Given the description of an element on the screen output the (x, y) to click on. 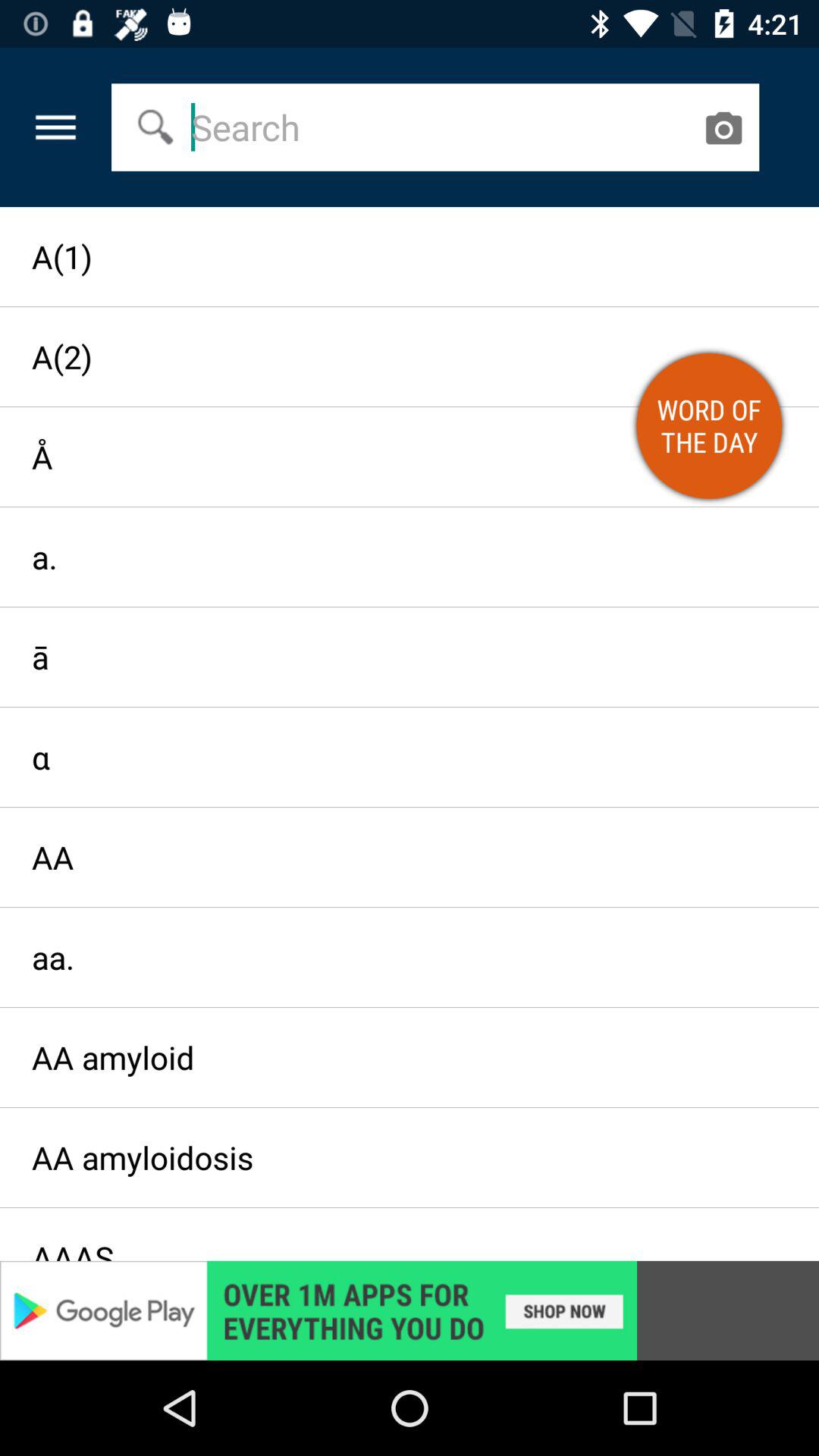
click on advertisement below (409, 1310)
